Given the description of an element on the screen output the (x, y) to click on. 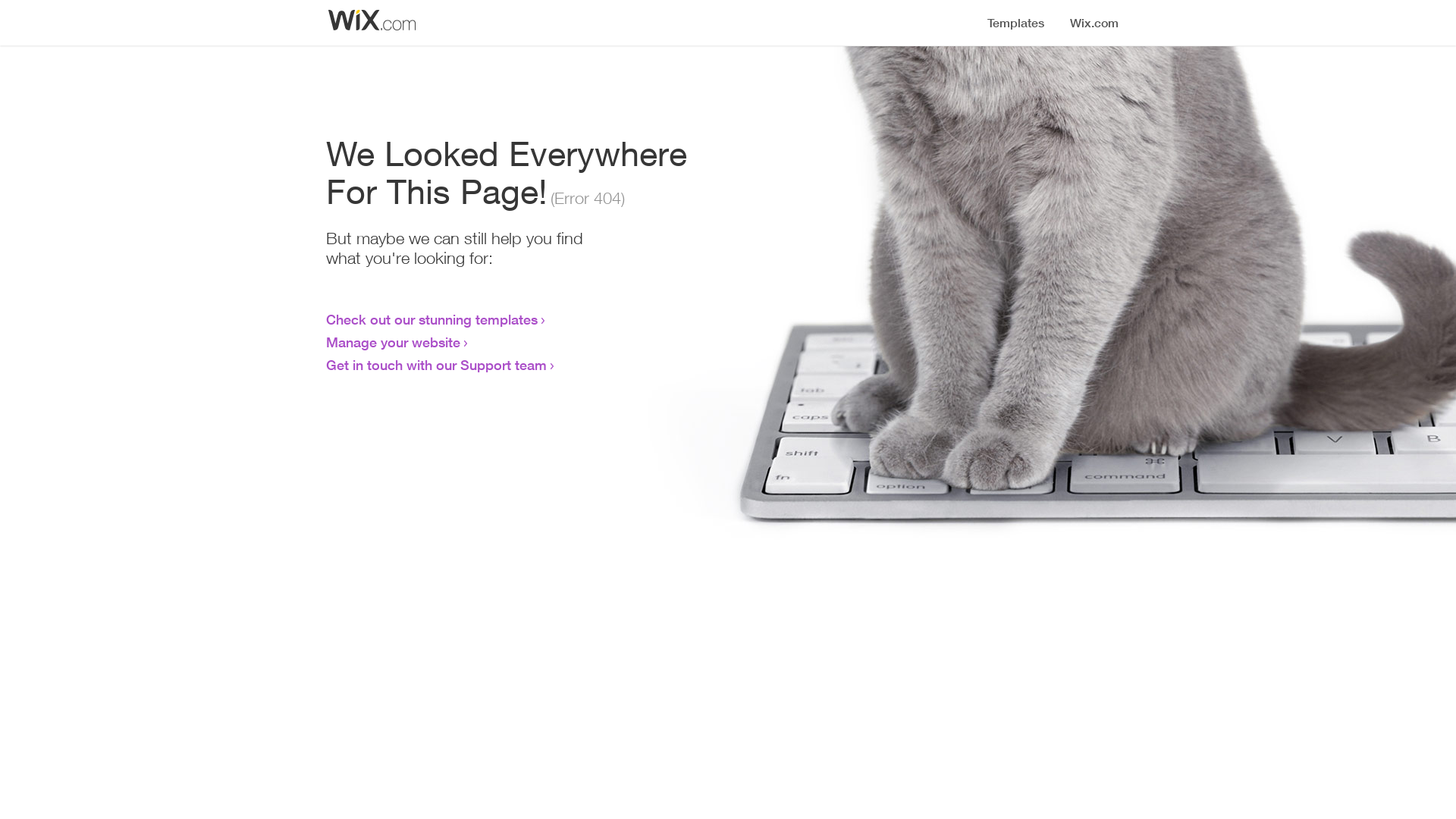
Get in touch with our Support team Element type: text (436, 364)
Check out our stunning templates Element type: text (431, 318)
Manage your website Element type: text (393, 341)
